Given the description of an element on the screen output the (x, y) to click on. 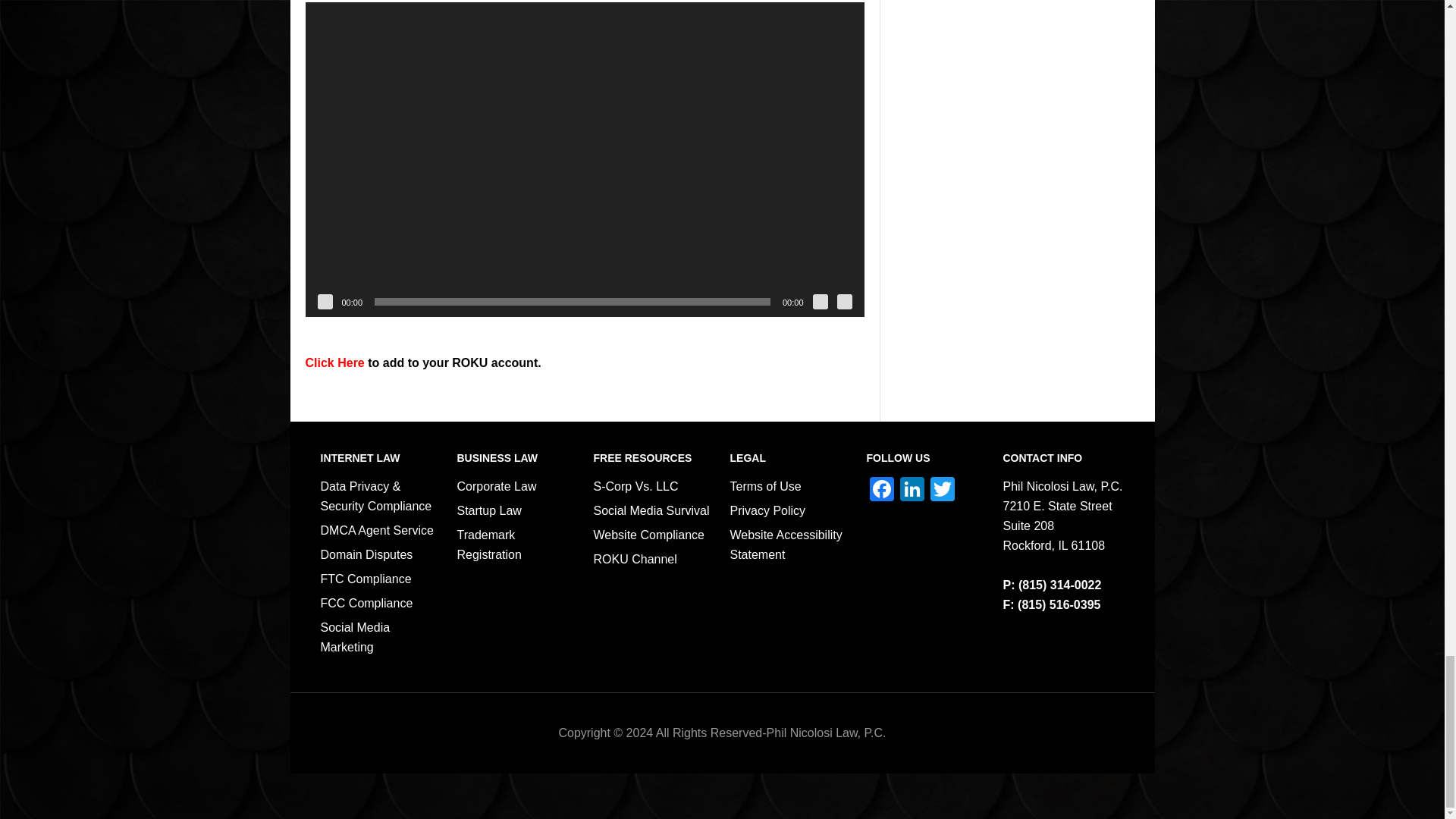
LinkedIn Company (911, 490)
Fullscreen (844, 301)
Play (324, 301)
Twitter (941, 490)
Mute (820, 301)
Facebook (881, 490)
